Given the description of an element on the screen output the (x, y) to click on. 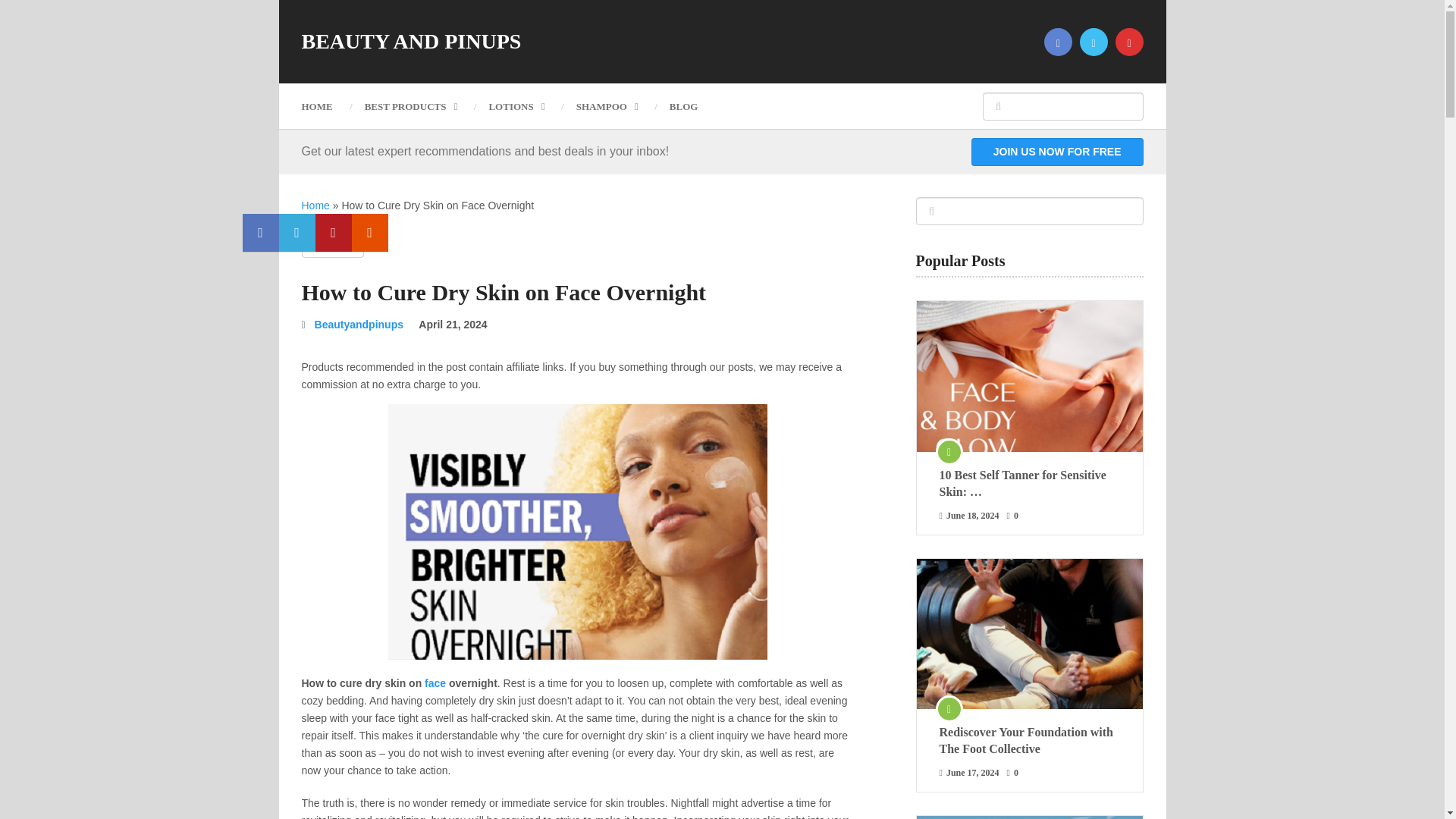
View all posts in BLOG (332, 243)
Posts by Beautyandpinups (358, 324)
BEAUTY AND PINUPS (411, 41)
BEST PRODUCTS (411, 105)
How to Cure Dry Skin on Face Overnight 1 (577, 532)
Join Us Now For Free (1056, 152)
HOME (325, 105)
LOTIONS (515, 105)
